Given the description of an element on the screen output the (x, y) to click on. 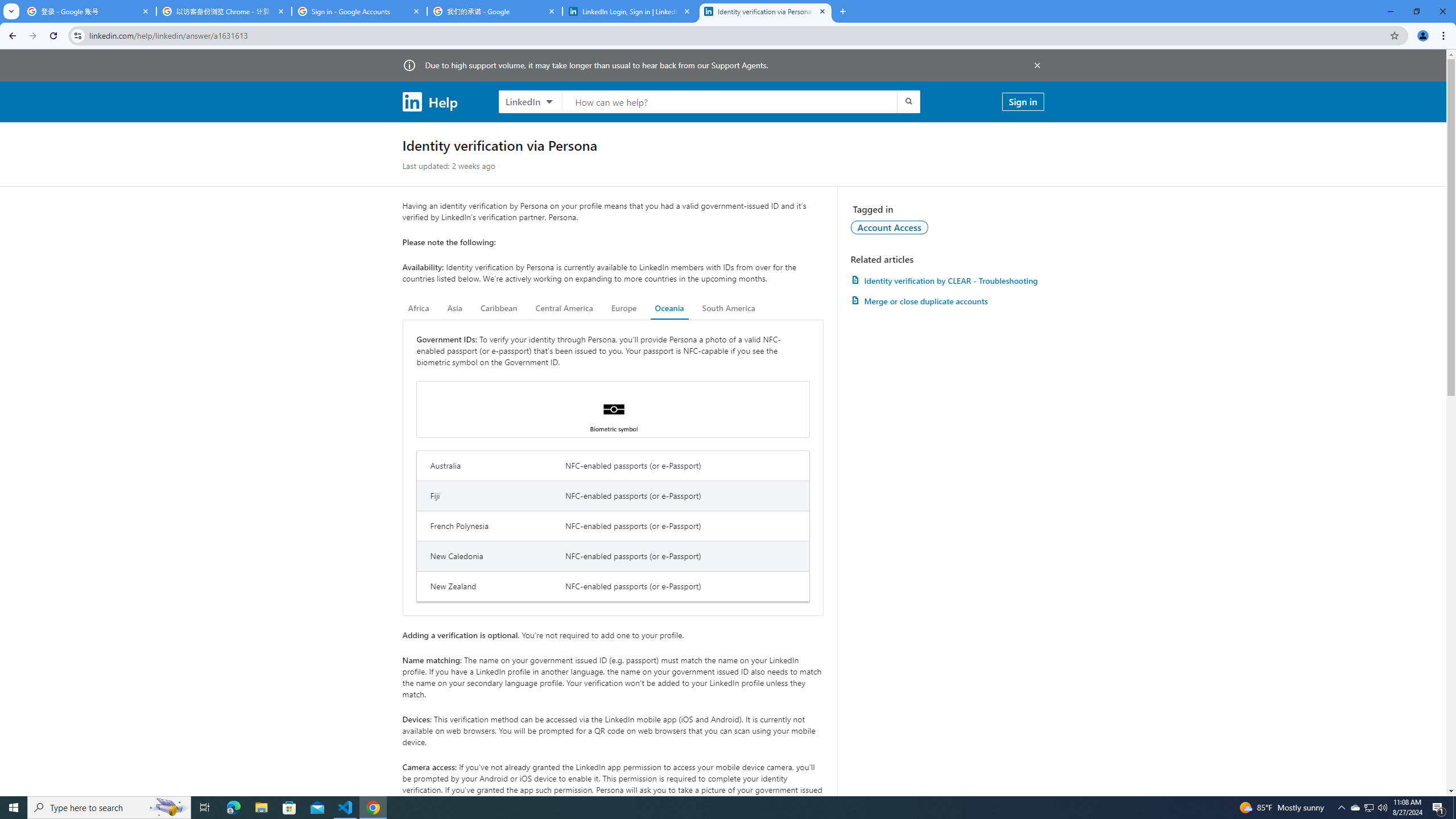
LinkedIn products to search, LinkedIn selected (530, 101)
Identity verification via Persona | LinkedIn Help (765, 11)
Submit search (908, 101)
Caribbean (499, 308)
Sign in - Google Accounts (359, 11)
Identity verification by CLEAR - Troubleshooting (946, 280)
Africa (418, 308)
South America (728, 308)
